Given the description of an element on the screen output the (x, y) to click on. 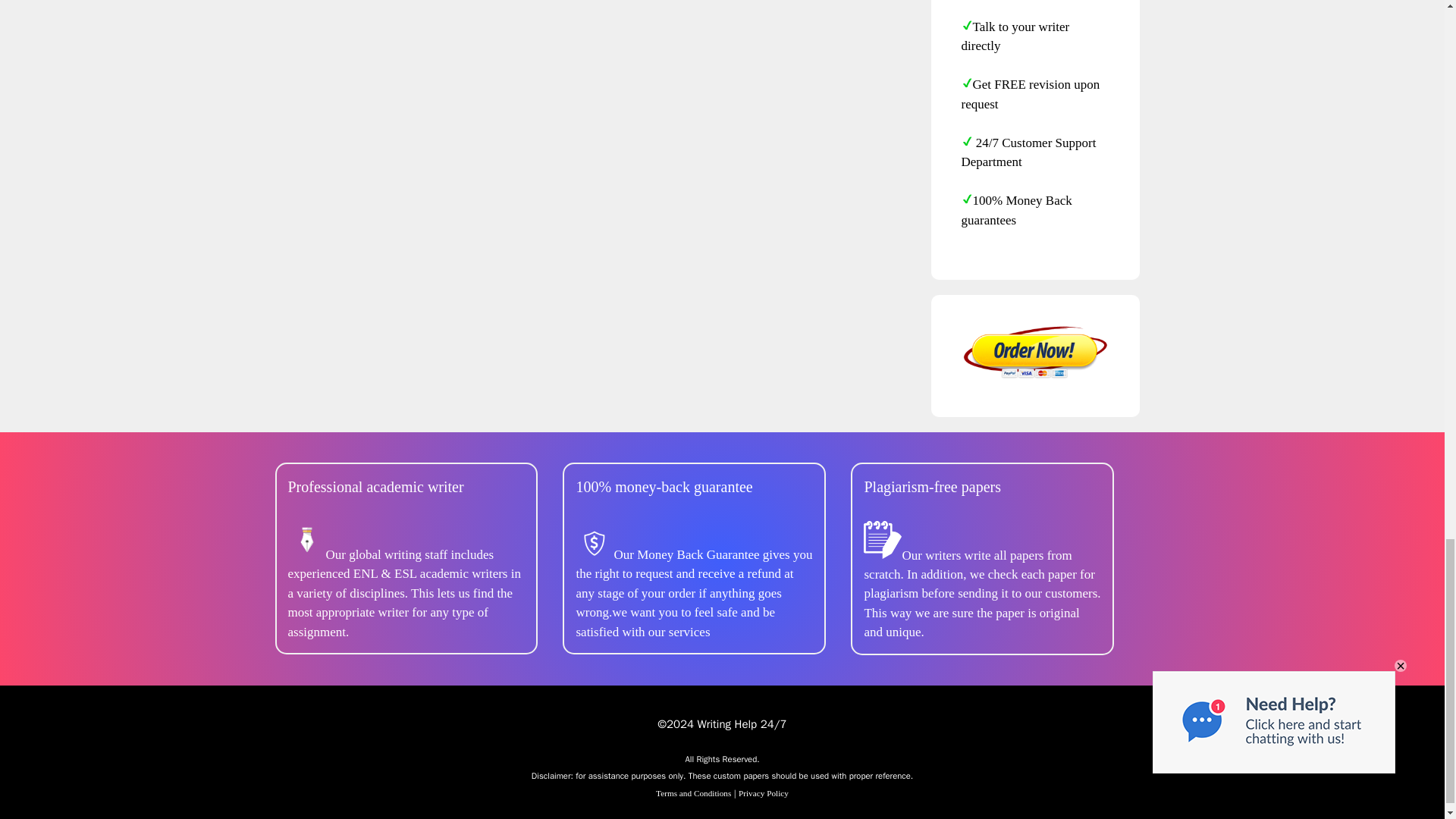
Terms and Conditions (693, 792)
Privacy Policy (763, 792)
